Given the description of an element on the screen output the (x, y) to click on. 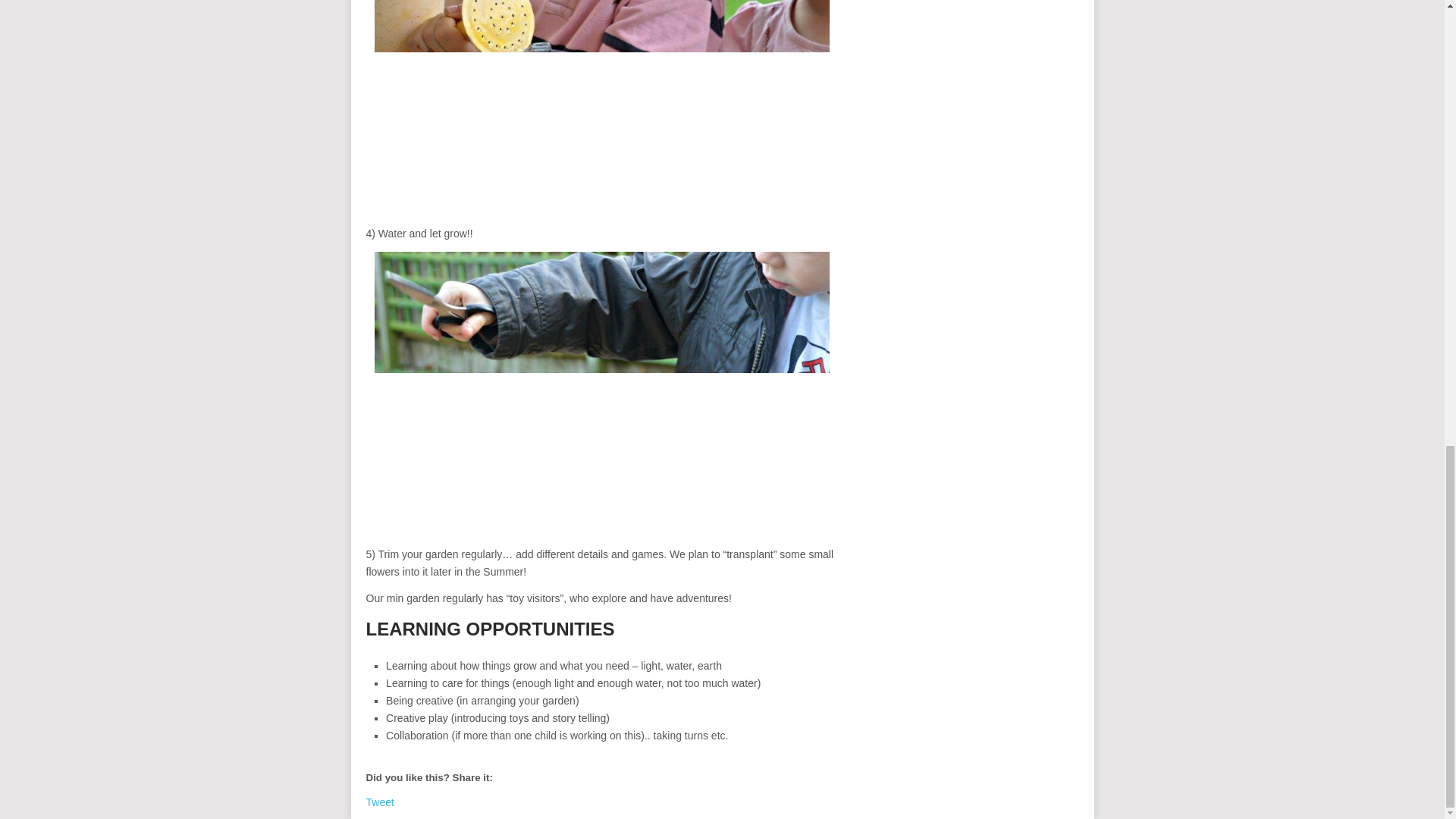
Tweet (379, 802)
